Given the description of an element on the screen output the (x, y) to click on. 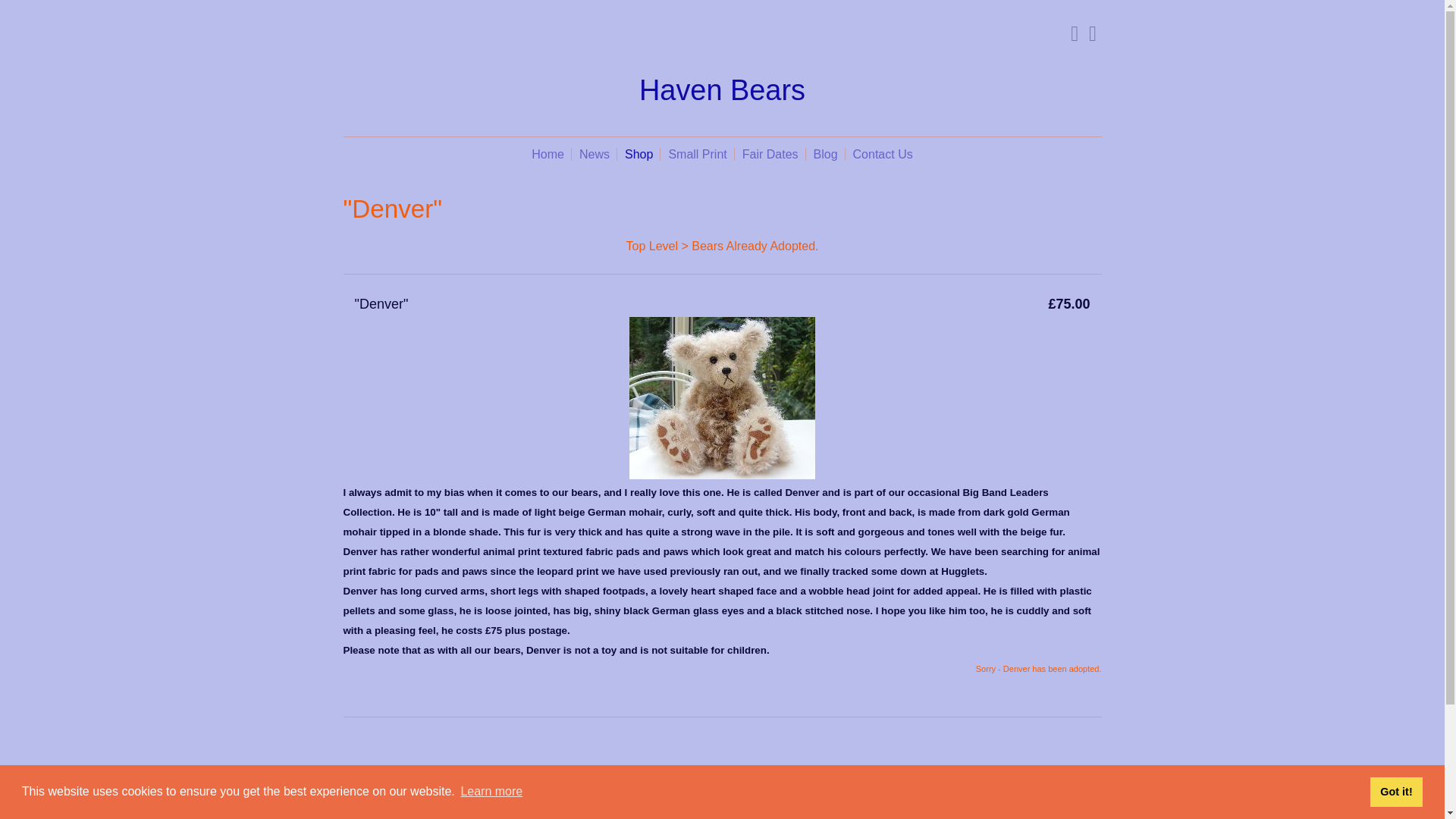
News (594, 154)
Fair Dates (770, 154)
Learn more (491, 791)
Small Print (697, 154)
Search (1067, 33)
Haven Bears (722, 90)
Bears Already Adopted. (754, 245)
Home (548, 154)
Shop (639, 154)
Got it! (1396, 791)
Contact Us (882, 154)
Blog (825, 154)
Top Level (652, 245)
